Given the description of an element on the screen output the (x, y) to click on. 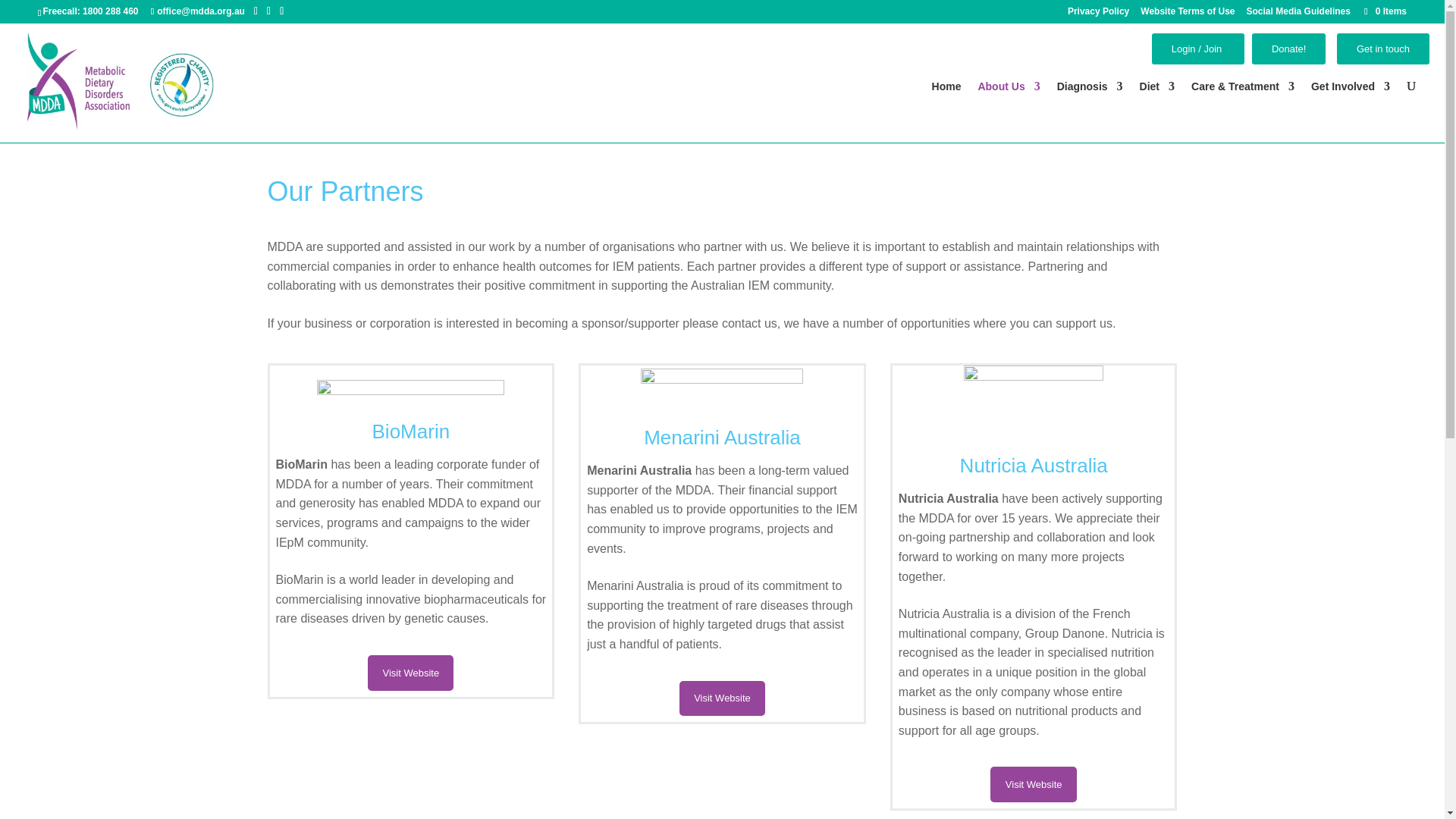
About Us (1007, 105)
0 Items (1383, 10)
Diagnosis (1089, 105)
Privacy Policy (1098, 14)
Freecall: 1800 288 460 (90, 10)
Donate! (1289, 48)
Get in touch (1382, 48)
Website Terms of Use (1187, 14)
Social Media Guidelines (1298, 14)
